Given the description of an element on the screen output the (x, y) to click on. 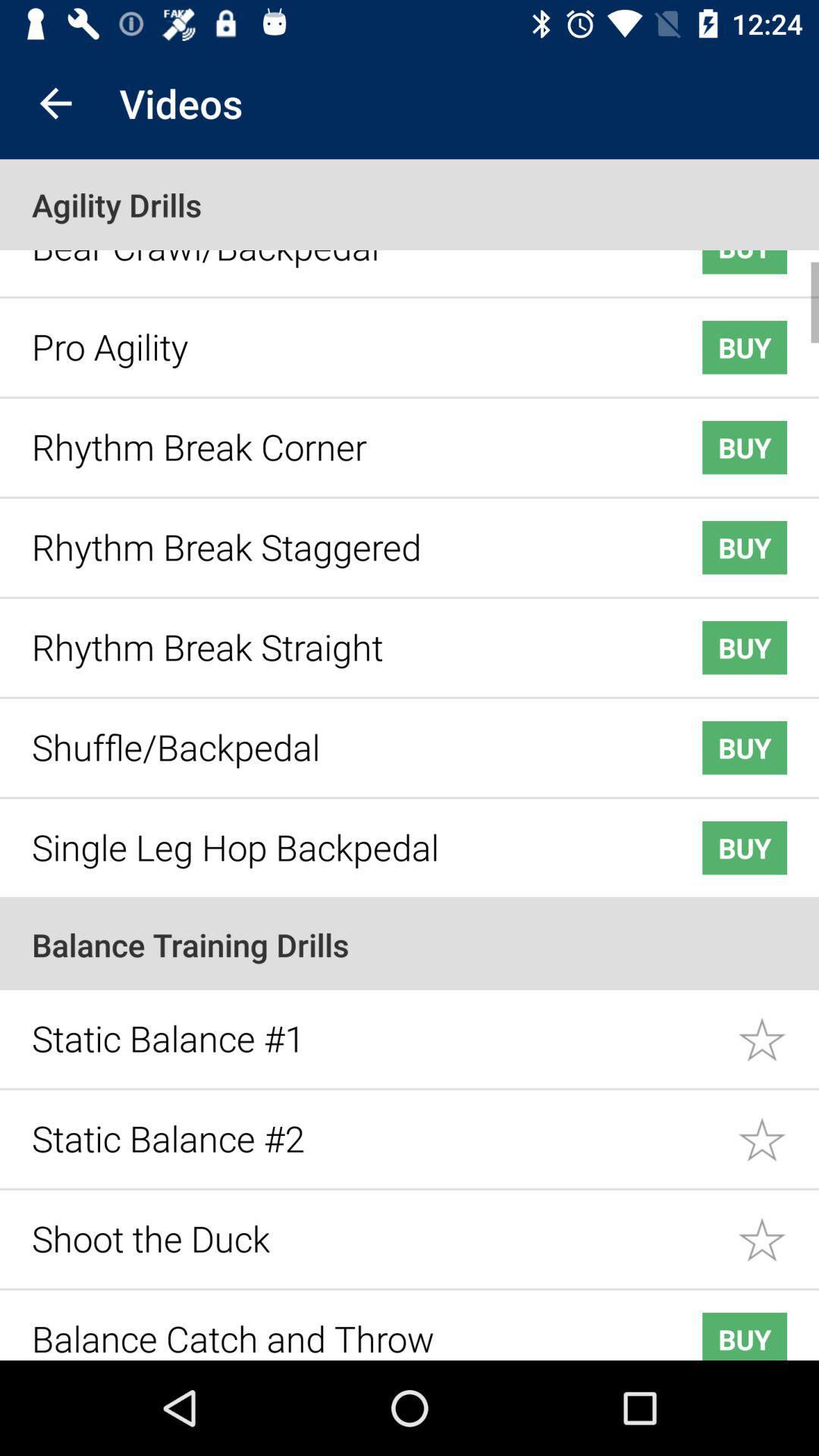
like this item (778, 1228)
